Given the description of an element on the screen output the (x, y) to click on. 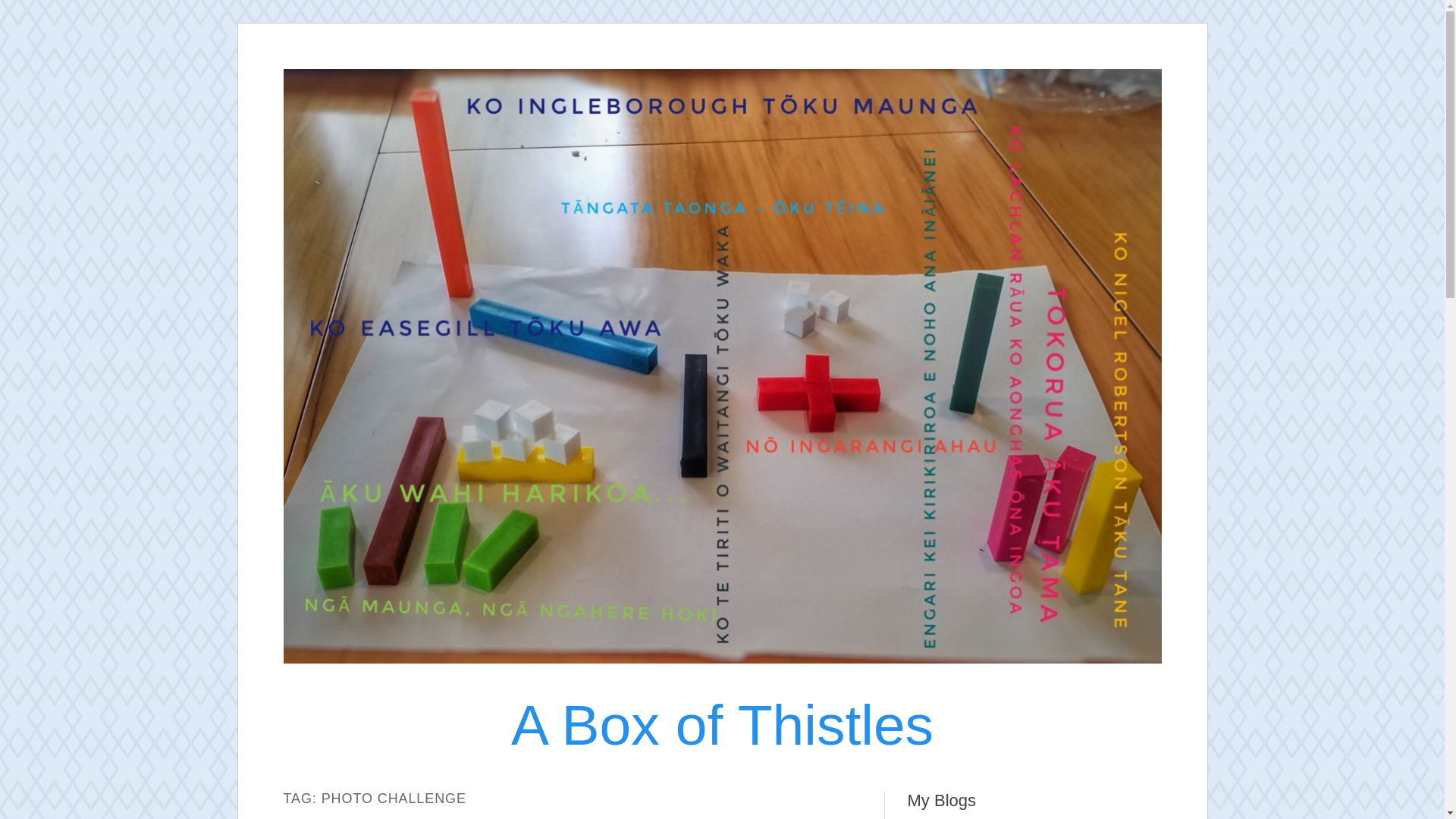
A Box of Thistles (722, 724)
